Given the description of an element on the screen output the (x, y) to click on. 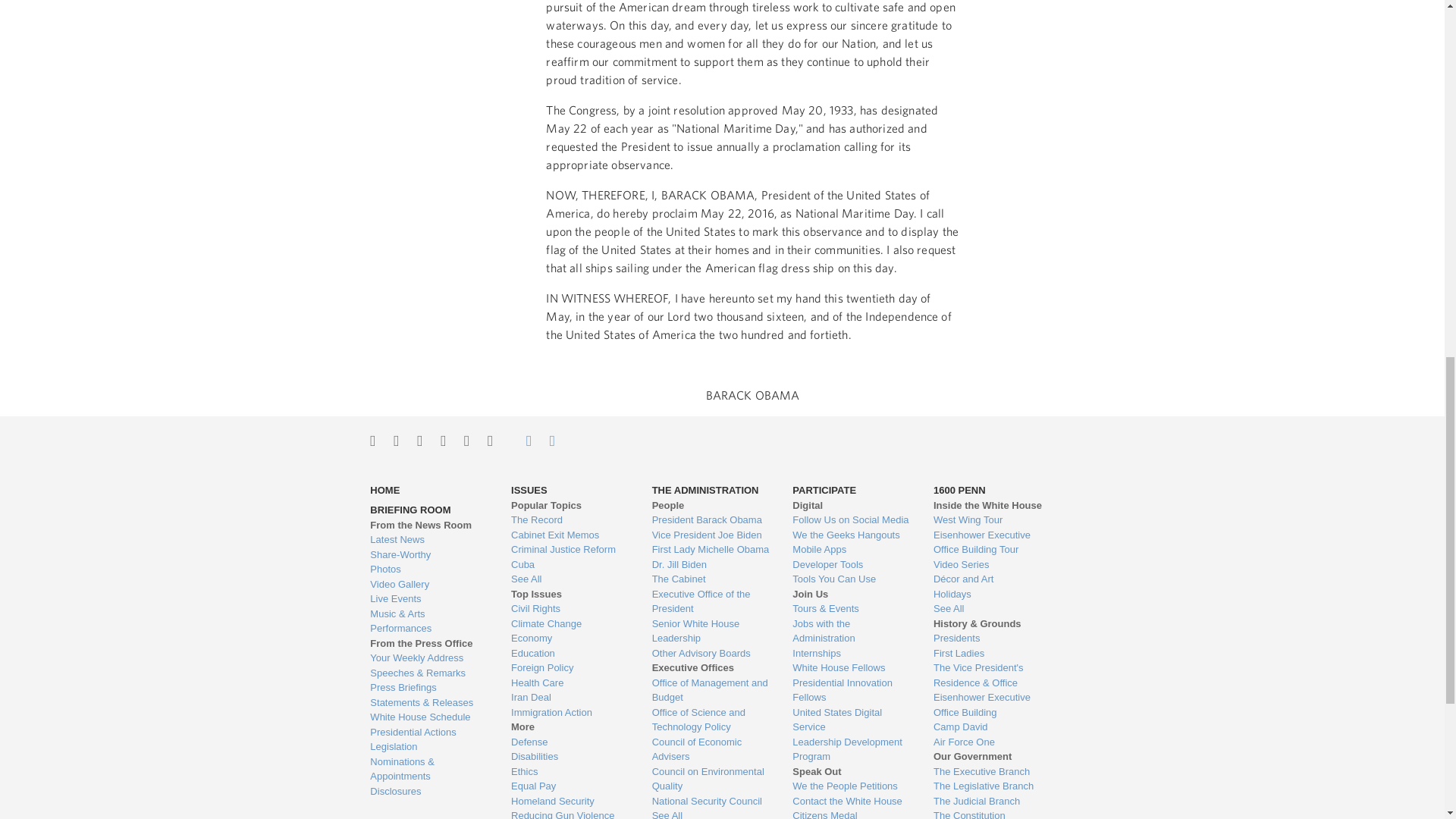
Contact the Whitehouse. (521, 440)
Read the latest blog posts from 1600 Pennsylvania Ave (428, 539)
Watch behind-the-scenes videos and more (428, 584)
View the photo of the day and other galleries (428, 569)
Check out the most popular infographics and videos (428, 554)
